Given the description of an element on the screen output the (x, y) to click on. 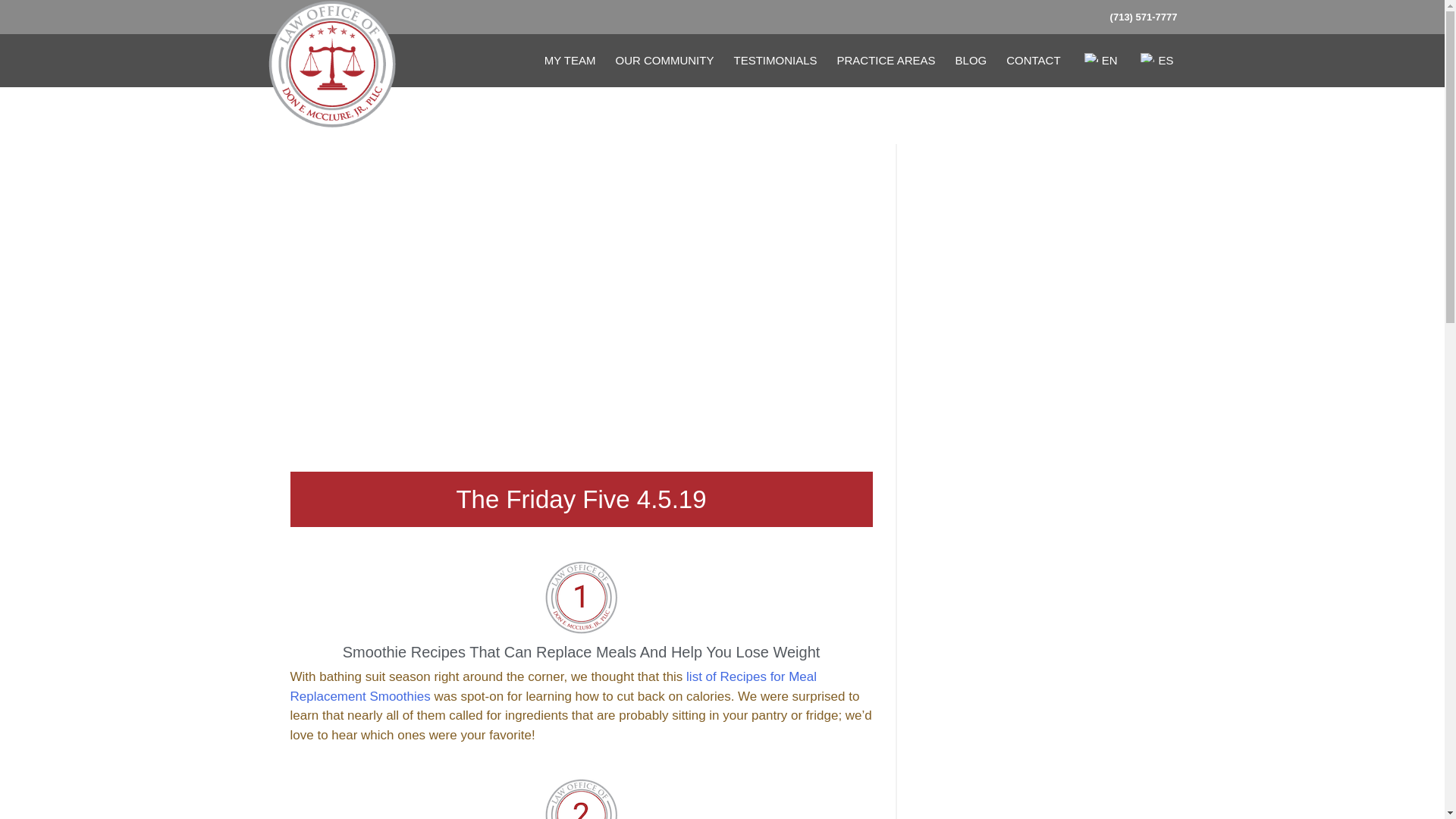
EN (1099, 60)
Spanish (1147, 57)
PRACTICE AREAS (885, 60)
MY TEAM (569, 60)
CONTACT (1033, 60)
OUR COMMUNITY (664, 60)
TESTIMONIALS (775, 60)
English (1090, 57)
BLOG (971, 60)
ES (1154, 60)
